Given the description of an element on the screen output the (x, y) to click on. 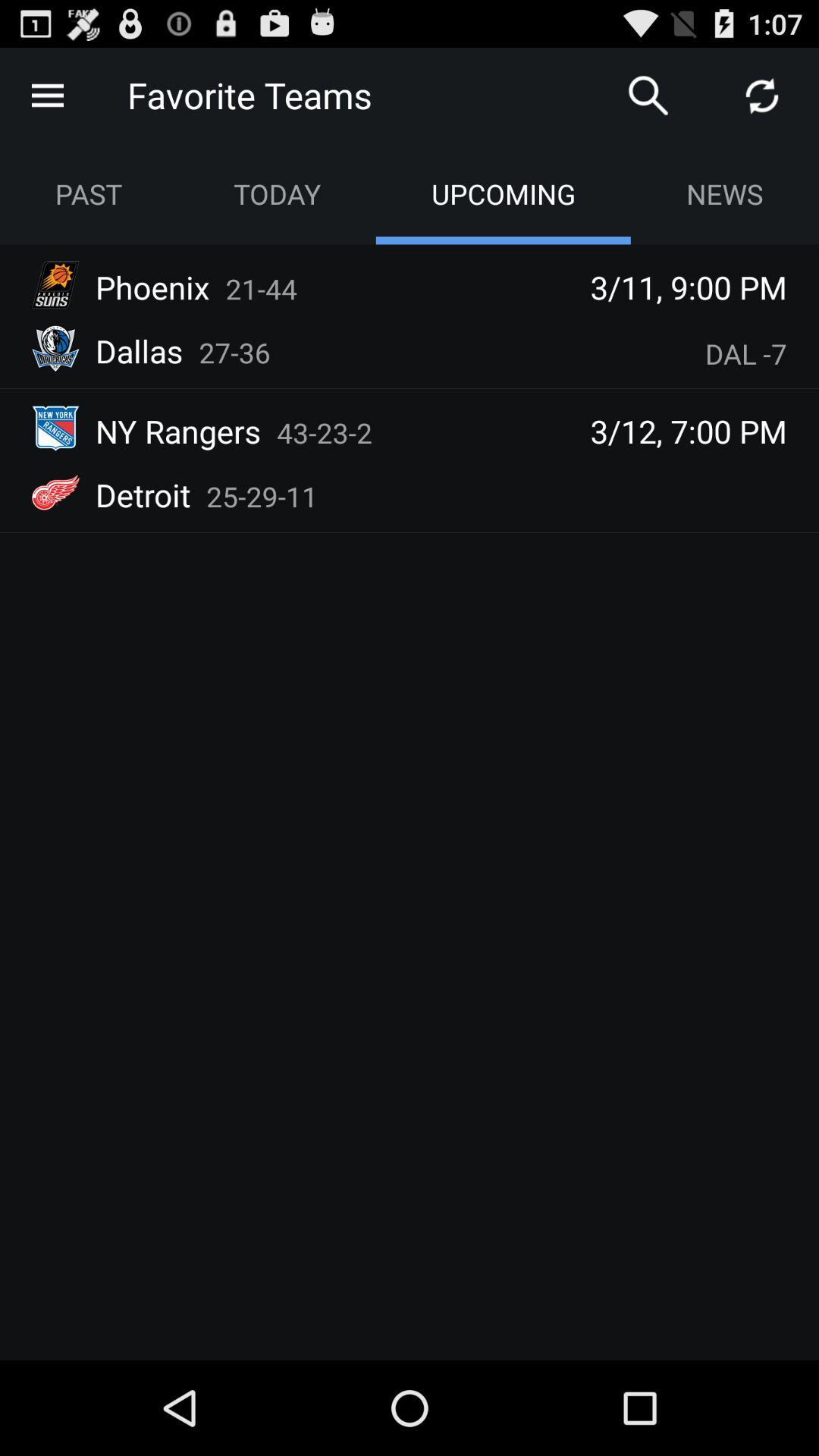
swipe to news (724, 193)
